Given the description of an element on the screen output the (x, y) to click on. 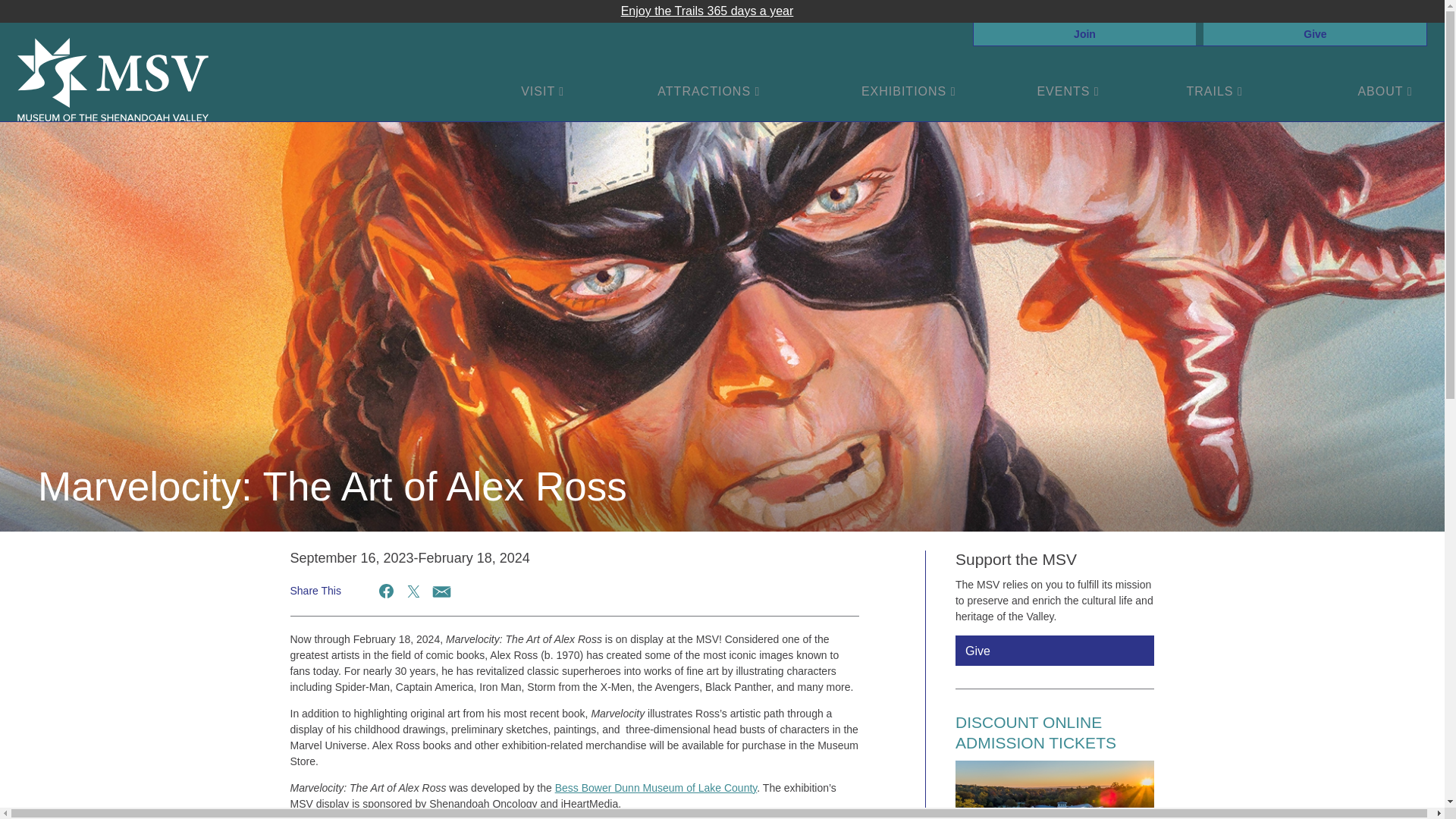
EVENTS  (1067, 91)
Join (1085, 33)
Enjoy the Trails 365 days a year (707, 10)
ATTRACTIONS  (709, 91)
Give (1315, 33)
Share this on Twitter (412, 590)
Share this on Facebook (386, 590)
Share this via email (439, 590)
TRAILS  (1214, 91)
EXHIBITIONS  (908, 91)
VISIT  (542, 91)
